Given the description of an element on the screen output the (x, y) to click on. 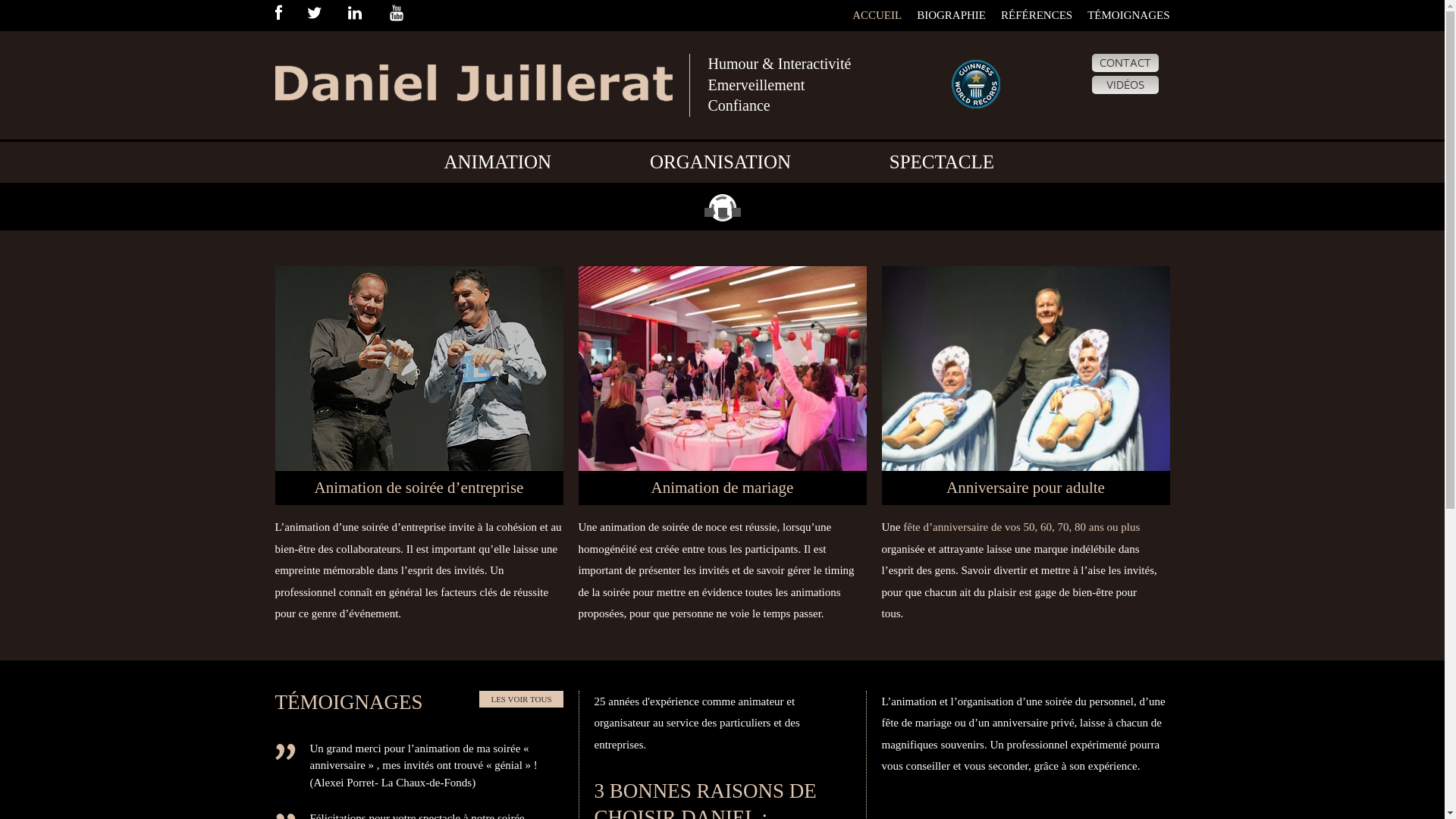
Aller au contenu principal Element type: text (63, 185)
ANIMATION Element type: text (497, 161)
Animation de mariage Element type: text (721, 487)
Linkedin Element type: hover (367, 14)
Confiance Element type: text (739, 105)
Emerveillement Element type: text (756, 84)
Facebook Element type: hover (289, 14)
ORGANISATION Element type: text (719, 161)
SPECTACLE Element type: text (941, 161)
Twitter Element type: hover (326, 14)
LES VOIR TOUS Element type: text (520, 698)
Anniversaire pour adulte Element type: text (1025, 487)
CONTACT Element type: text (1125, 62)
ACCUEIL Element type: text (876, 15)
Accueil Element type: hover (472, 70)
BIOGRAPHIE Element type: text (950, 15)
